Given the description of an element on the screen output the (x, y) to click on. 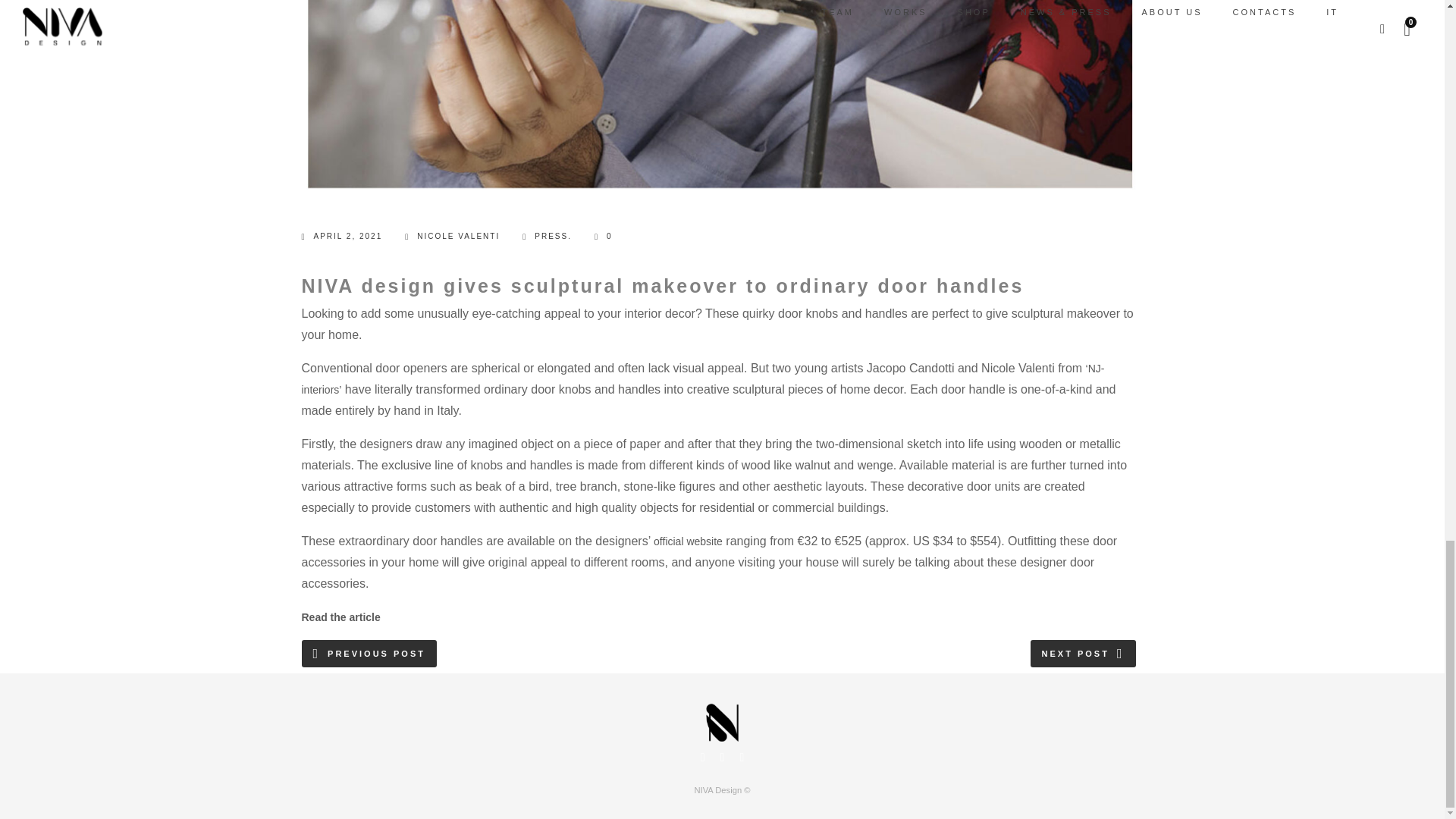
Instagram (722, 759)
email (741, 759)
Facebook (703, 759)
